Given the description of an element on the screen output the (x, y) to click on. 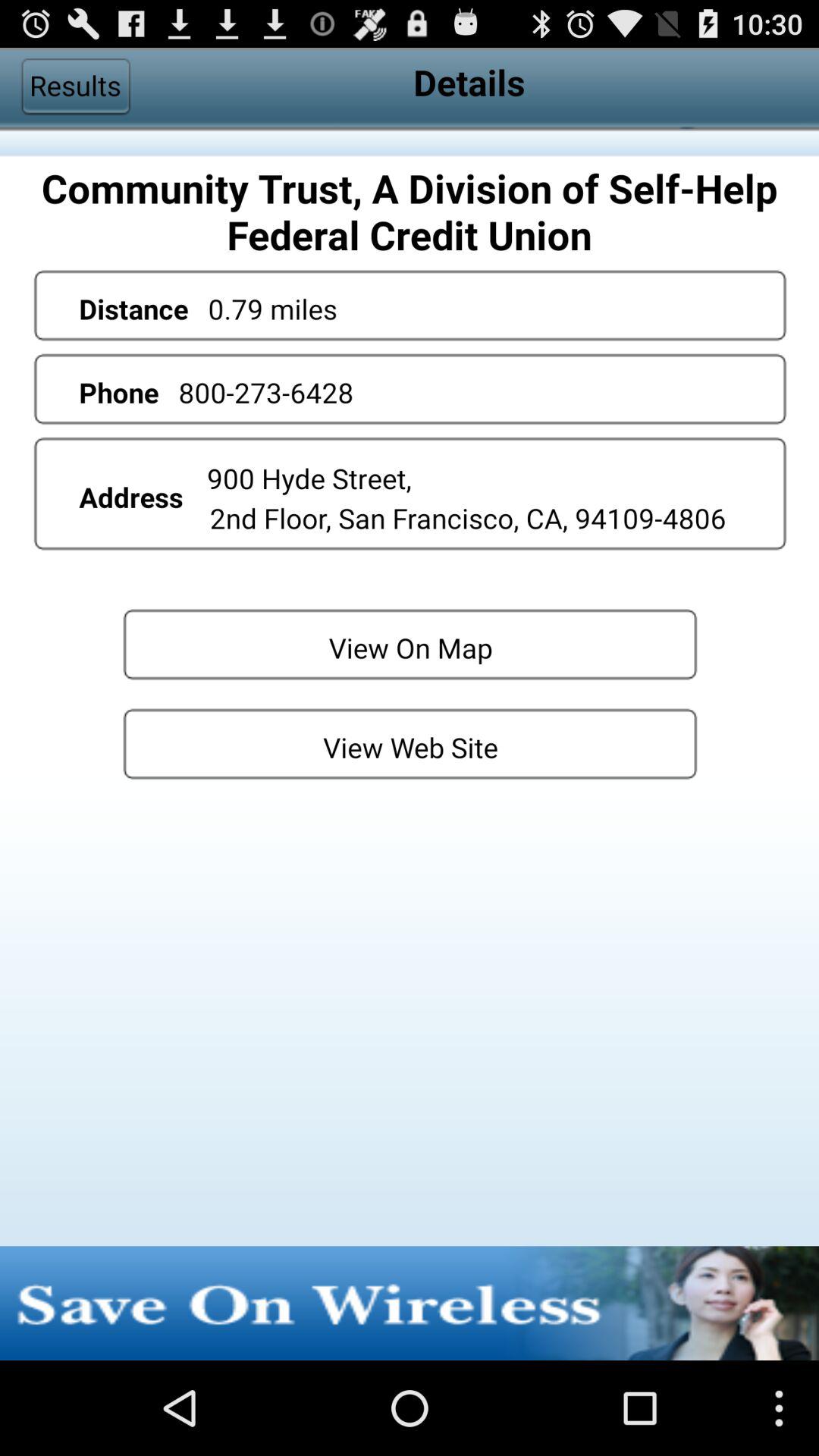
press the view web site (409, 743)
